Given the description of an element on the screen output the (x, y) to click on. 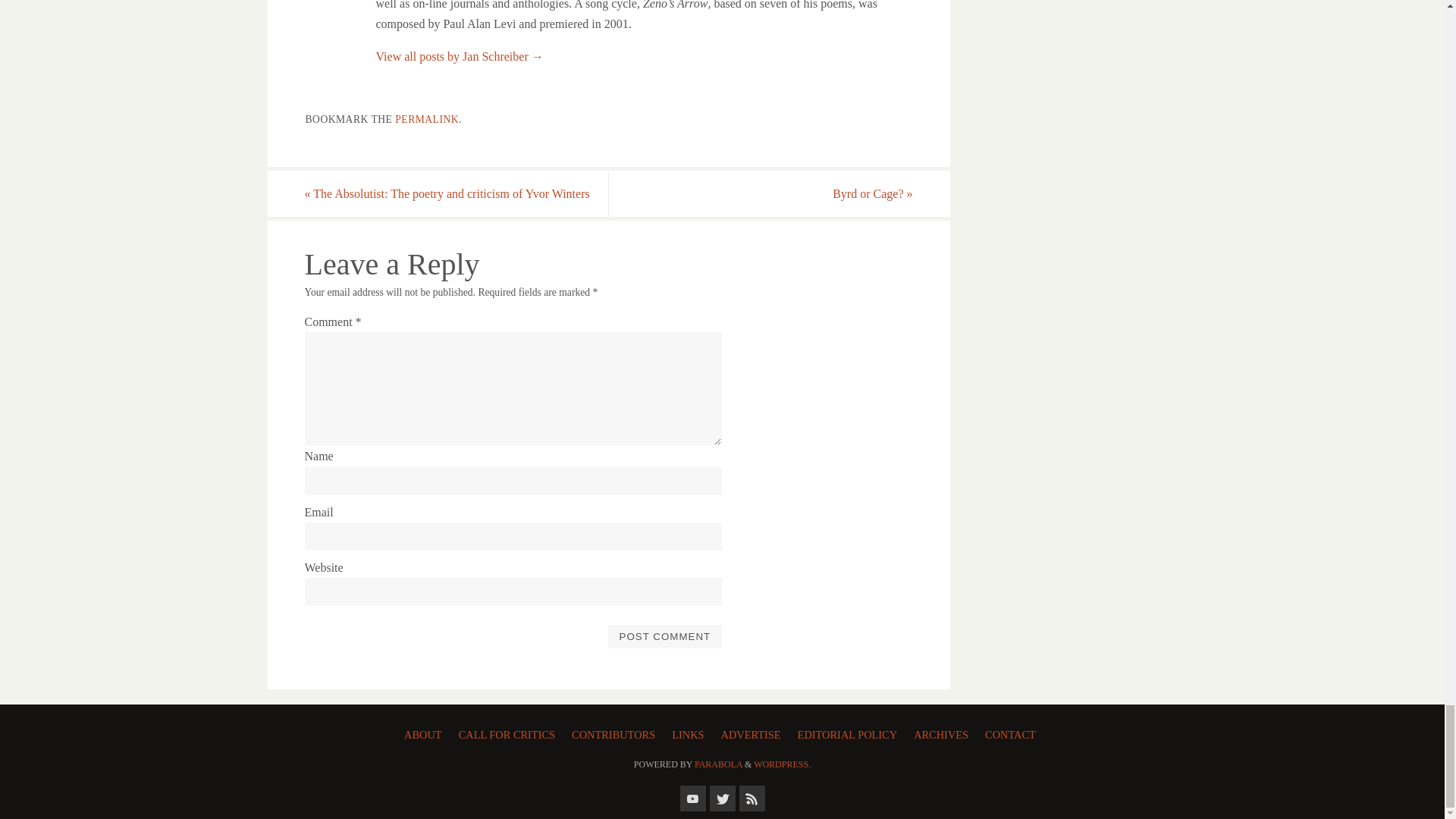
Post Comment (664, 635)
Parabola Theme by Cryout Creations (718, 764)
RSS (751, 798)
LINKS (690, 732)
Post Comment (664, 635)
YouTube (691, 798)
Twitter (722, 798)
ARCHIVES (944, 732)
CALL FOR CRITICS (509, 732)
